Given the description of an element on the screen output the (x, y) to click on. 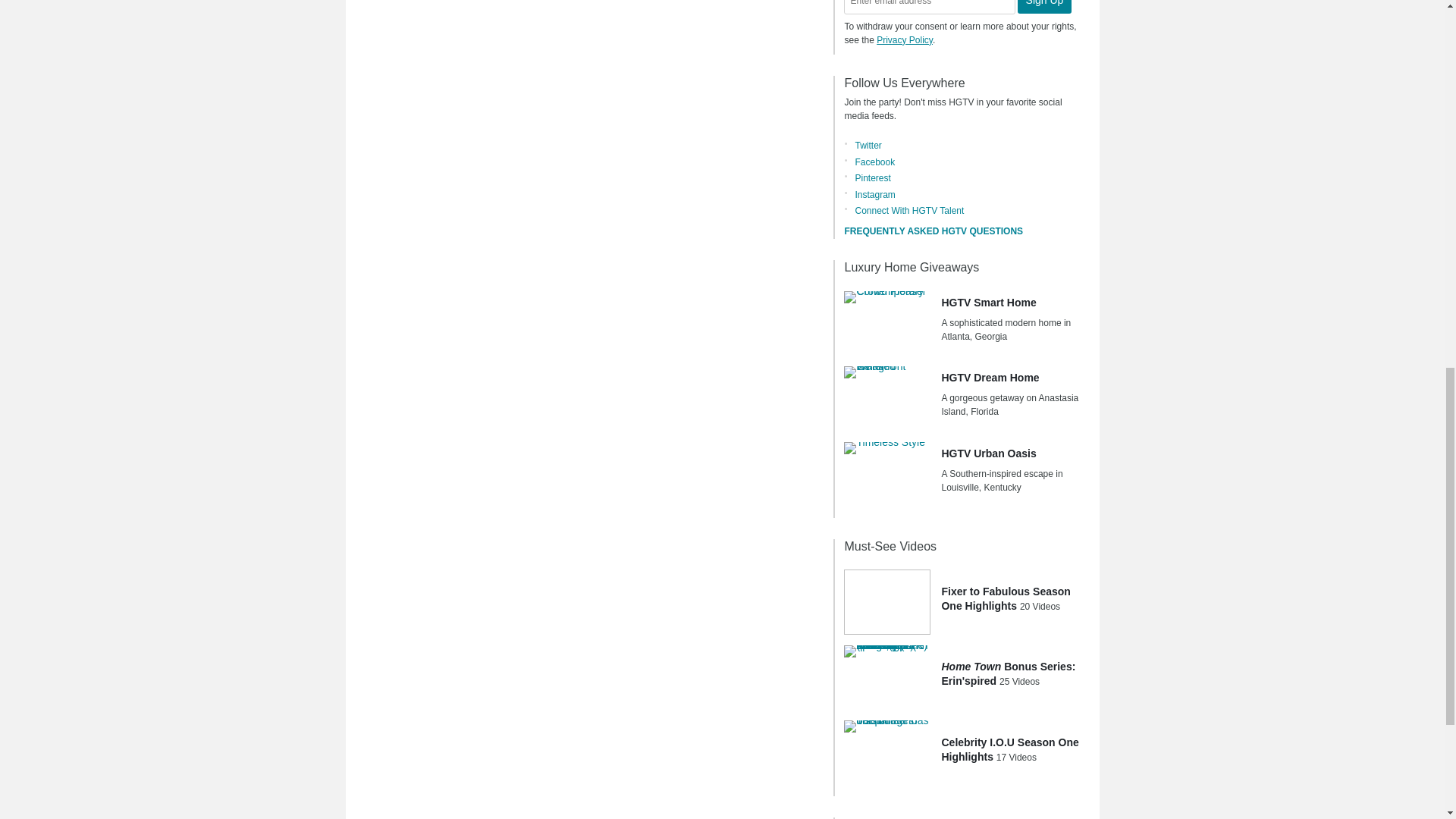
HGTV Dream Home (887, 398)
HGTV Urban Oasis (887, 474)
HGTV Smart Home (887, 323)
Fixer to Fabulous Season One Highlights (887, 601)
Celebrity I.O.U Season One Highlights (887, 752)
